Given the description of an element on the screen output the (x, y) to click on. 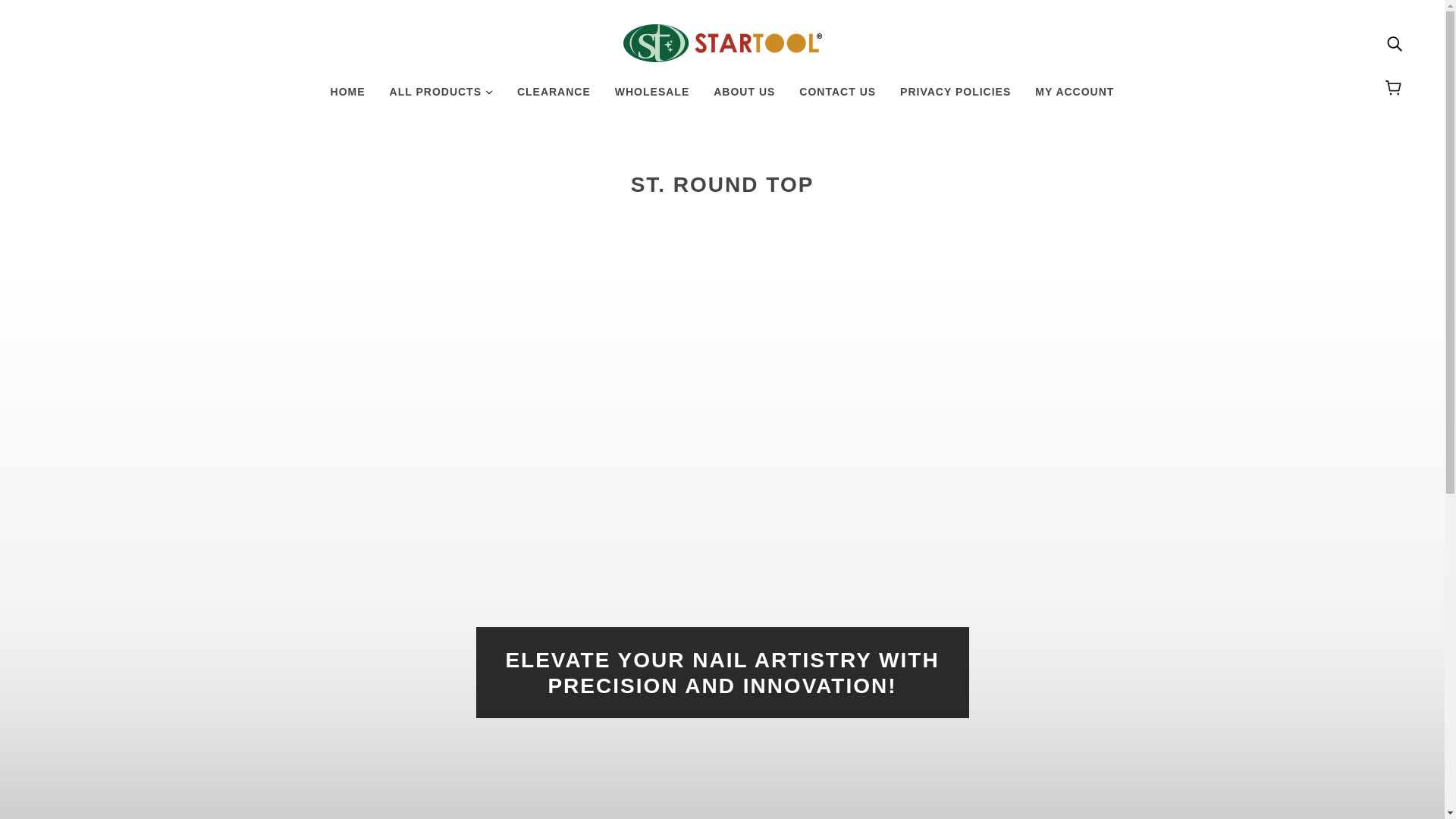
CLEARANCE (553, 97)
PRIVACY POLICIES (955, 97)
STARTOOL NAIL TOOLS (722, 43)
MY ACCOUNT (1074, 97)
WHOLESALE (651, 97)
HOME (347, 97)
ABOUT US (744, 97)
CONTACT US (837, 97)
ALL PRODUCTS (441, 97)
